Given the description of an element on the screen output the (x, y) to click on. 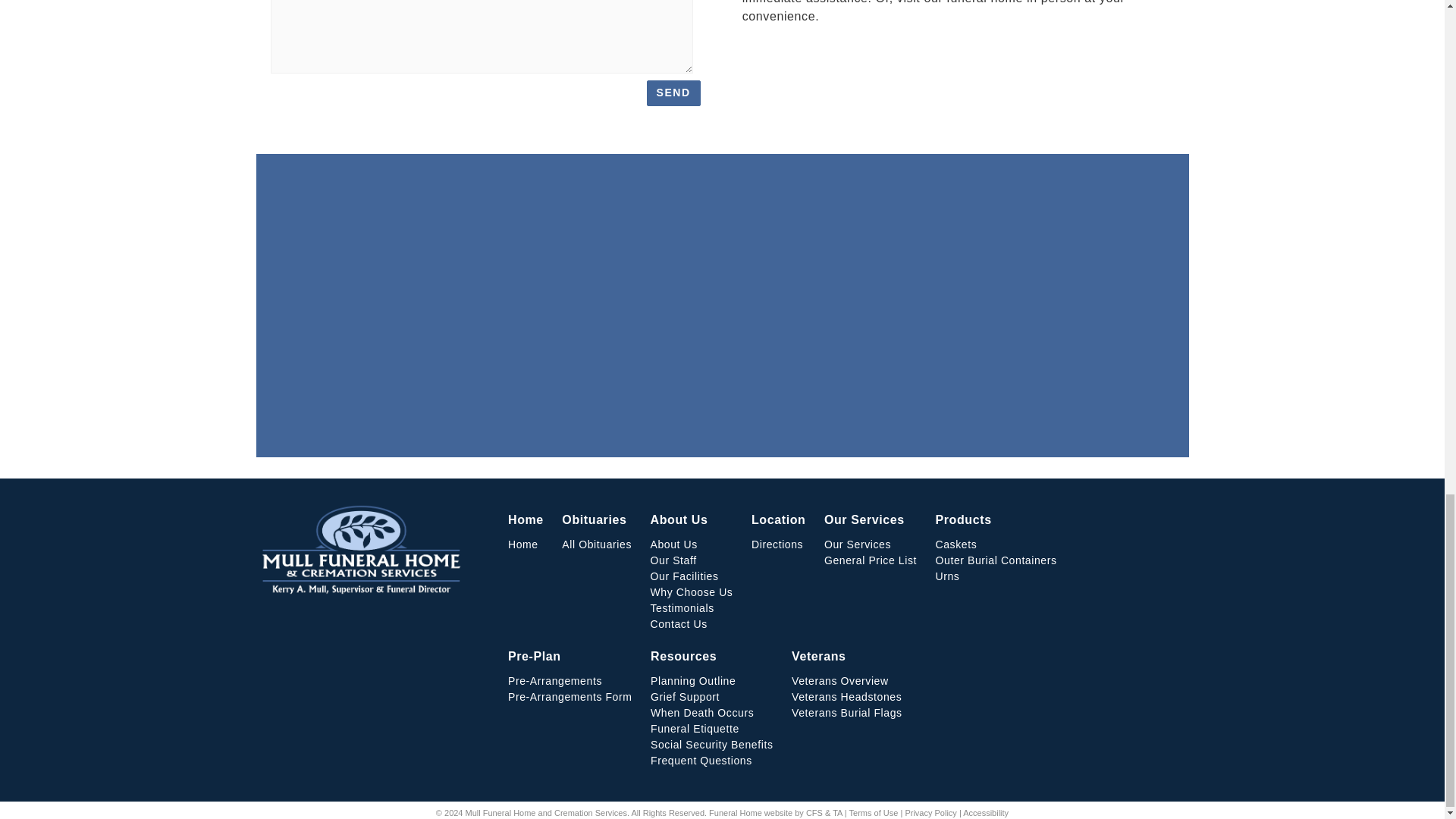
Contact Us (778, 57)
Send Flowers (750, 57)
